Given the description of an element on the screen output the (x, y) to click on. 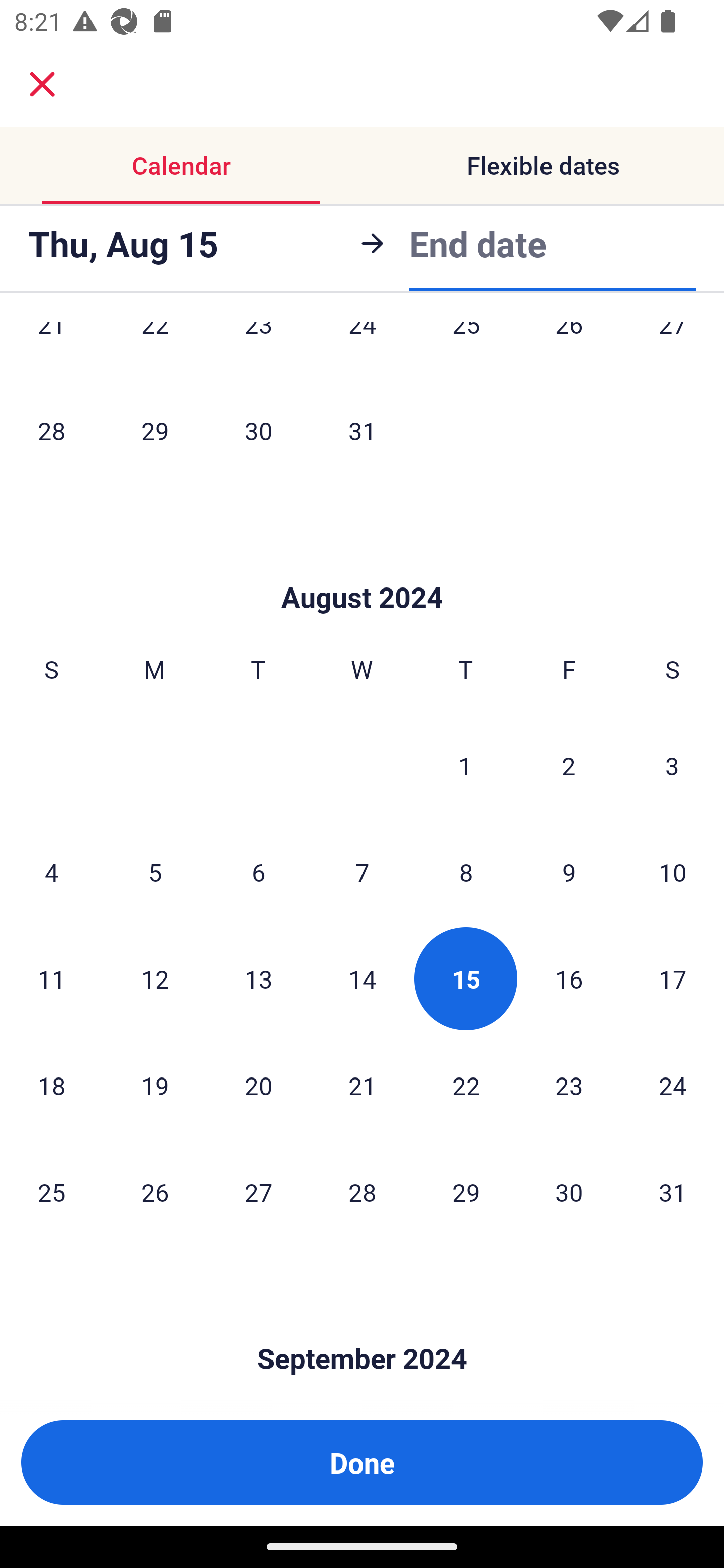
close. (42, 84)
Flexible dates (542, 164)
End date (477, 240)
28 Sunday, July 28, 2024 (51, 430)
29 Monday, July 29, 2024 (155, 430)
30 Tuesday, July 30, 2024 (258, 430)
31 Wednesday, July 31, 2024 (362, 430)
Skip to Done (362, 567)
1 Thursday, August 1, 2024 (464, 764)
2 Friday, August 2, 2024 (568, 764)
3 Saturday, August 3, 2024 (672, 764)
4 Sunday, August 4, 2024 (51, 871)
5 Monday, August 5, 2024 (155, 871)
6 Tuesday, August 6, 2024 (258, 871)
7 Wednesday, August 7, 2024 (362, 871)
8 Thursday, August 8, 2024 (465, 871)
9 Friday, August 9, 2024 (569, 871)
10 Saturday, August 10, 2024 (672, 871)
11 Sunday, August 11, 2024 (51, 978)
12 Monday, August 12, 2024 (155, 978)
13 Tuesday, August 13, 2024 (258, 978)
14 Wednesday, August 14, 2024 (362, 978)
16 Friday, August 16, 2024 (569, 978)
17 Saturday, August 17, 2024 (672, 978)
18 Sunday, August 18, 2024 (51, 1084)
19 Monday, August 19, 2024 (155, 1084)
20 Tuesday, August 20, 2024 (258, 1084)
21 Wednesday, August 21, 2024 (362, 1084)
22 Thursday, August 22, 2024 (465, 1084)
23 Friday, August 23, 2024 (569, 1084)
24 Saturday, August 24, 2024 (672, 1084)
25 Sunday, August 25, 2024 (51, 1191)
26 Monday, August 26, 2024 (155, 1191)
27 Tuesday, August 27, 2024 (258, 1191)
28 Wednesday, August 28, 2024 (362, 1191)
29 Thursday, August 29, 2024 (465, 1191)
30 Friday, August 30, 2024 (569, 1191)
31 Saturday, August 31, 2024 (672, 1191)
Skip to Done (362, 1328)
Done (361, 1462)
